Given the description of an element on the screen output the (x, y) to click on. 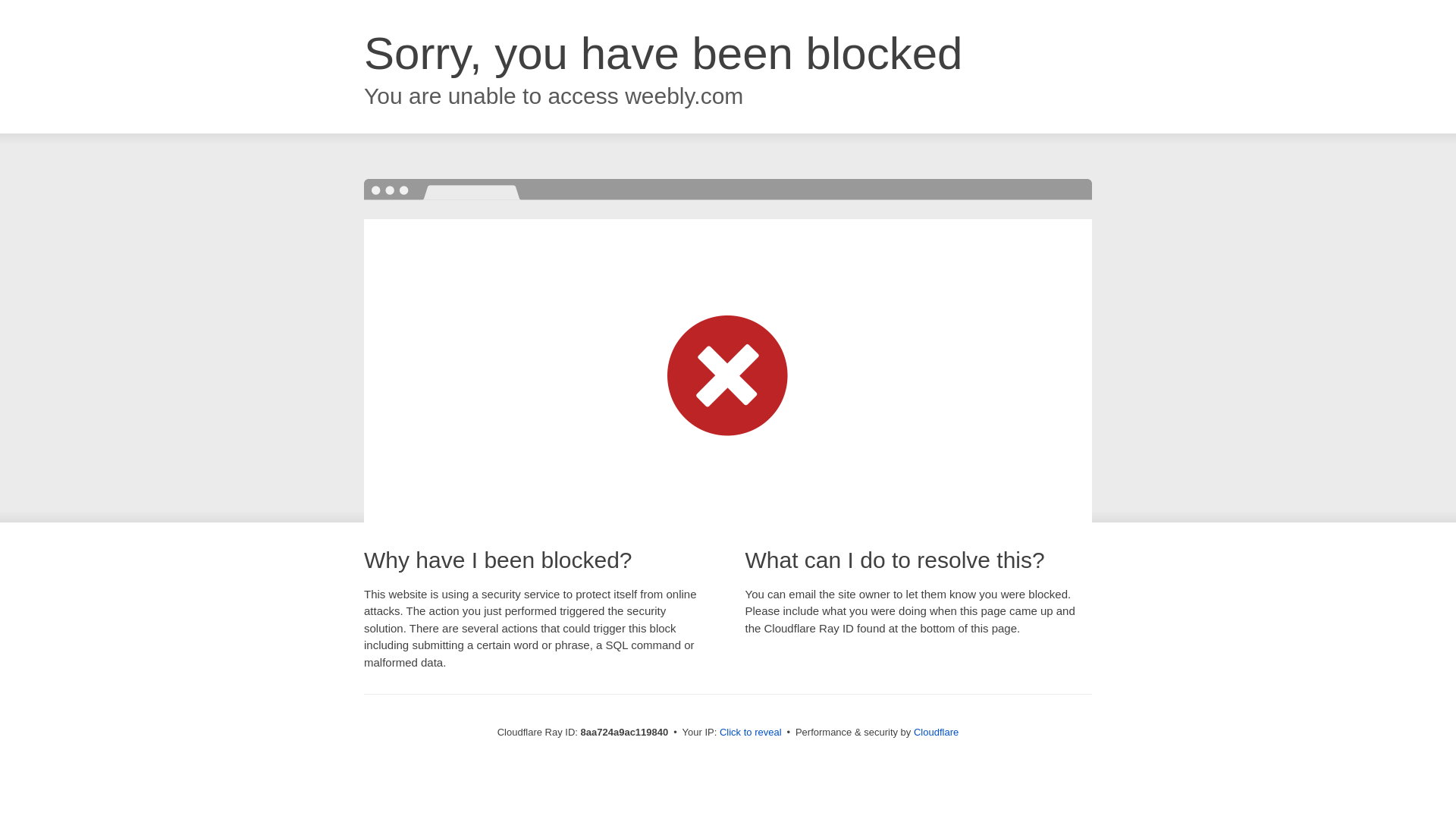
Click to reveal (750, 732)
Cloudflare (936, 731)
